Given the description of an element on the screen output the (x, y) to click on. 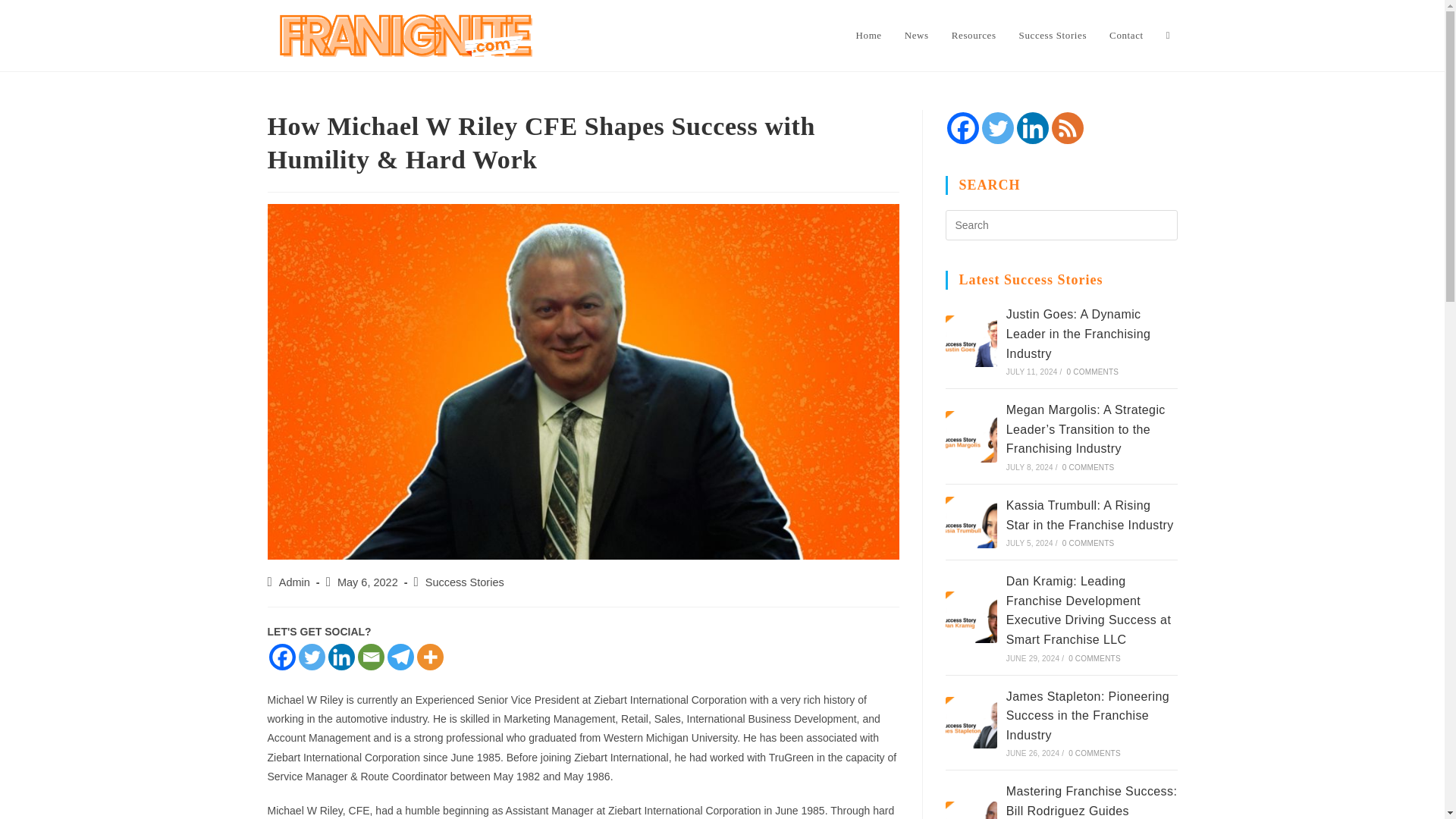
Facebook (281, 656)
Resources (973, 35)
RSS feed (1067, 128)
Telegram (400, 656)
Facebook (962, 128)
Admin (294, 582)
Contact (1125, 35)
Twitter (997, 128)
Success Stories (1053, 35)
More (430, 656)
Linkedin (1032, 128)
Email (371, 656)
Kassia Trumbull: A Rising Star in the Franchise Industry (969, 521)
Twitter (311, 656)
Success Stories (464, 582)
